Given the description of an element on the screen output the (x, y) to click on. 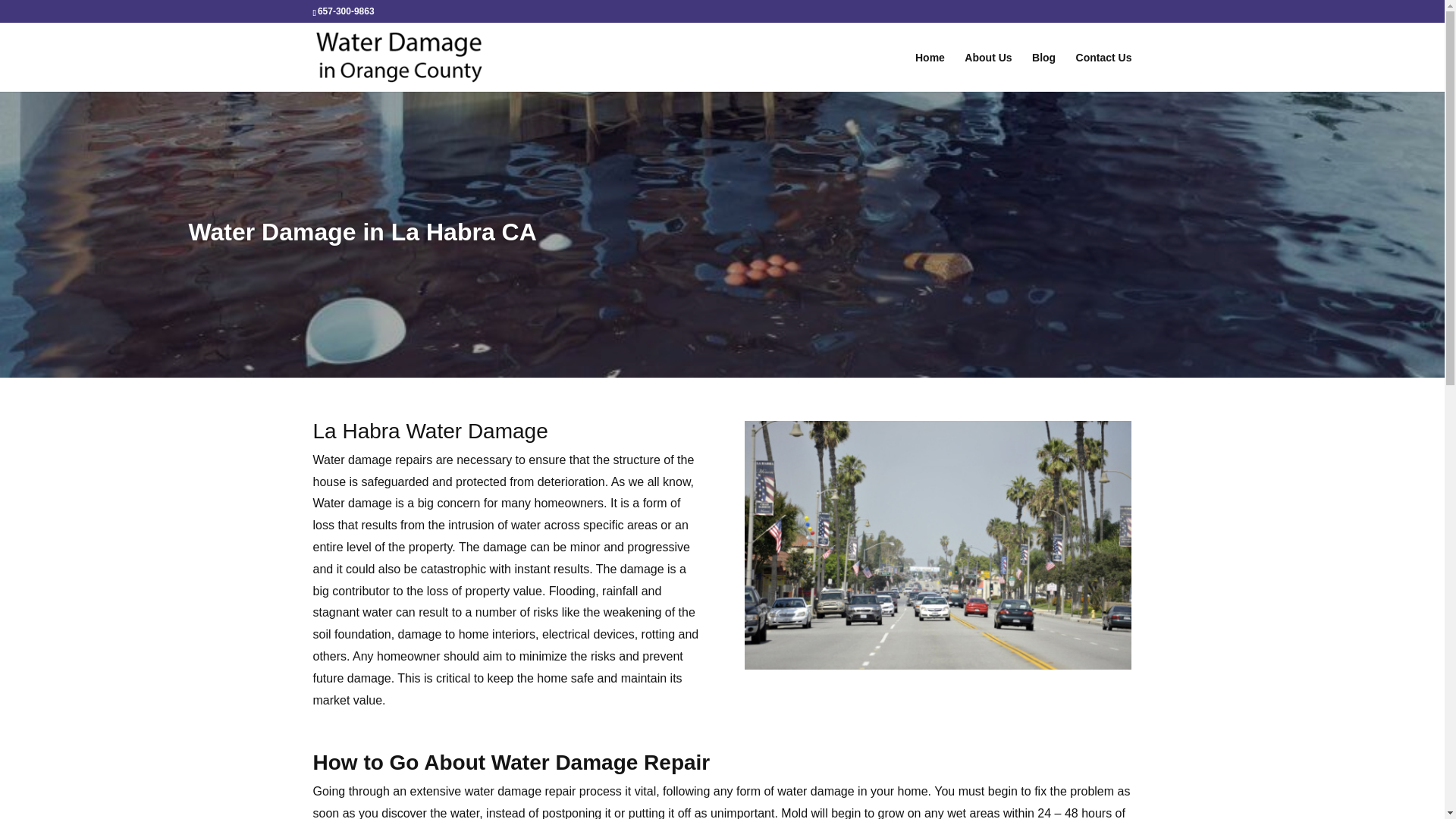
Contact Us (1103, 71)
About Us (987, 71)
